Given the description of an element on the screen output the (x, y) to click on. 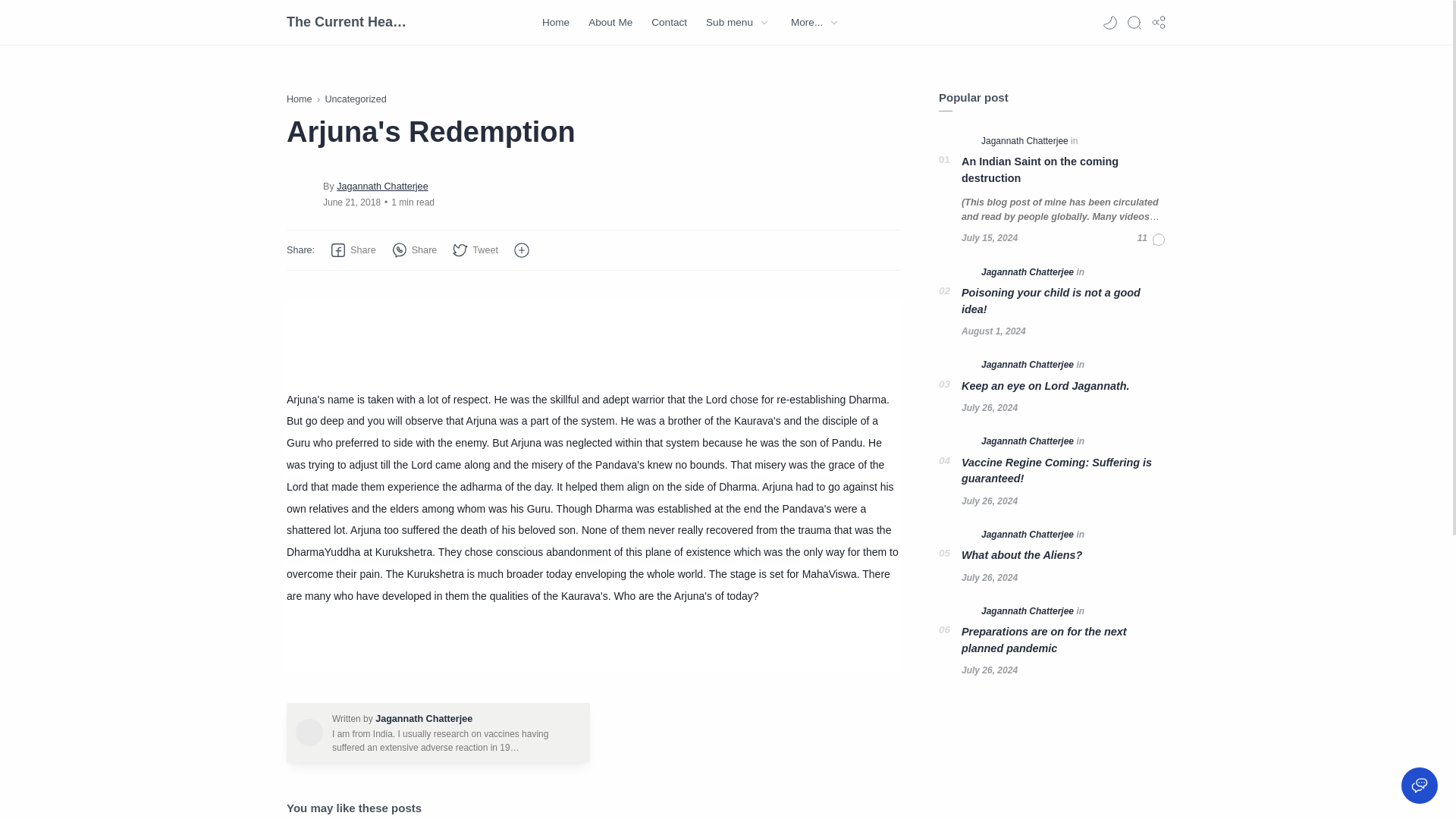
Published: July 26, 2024 (988, 670)
Share to Facebook (352, 250)
Home (299, 99)
Published: July 26, 2024 (988, 500)
Published: June 21, 2018 (351, 201)
Published: July 26, 2024 (988, 407)
Share to Whatsapp (414, 250)
The Current Health Scenario (346, 22)
Last updated: July 15, 2024 (988, 237)
About Me (609, 22)
Published: July 26, 2024 (988, 577)
Share to Twitter (474, 250)
Last updated: August 1, 2024 (993, 331)
